Given the description of an element on the screen output the (x, y) to click on. 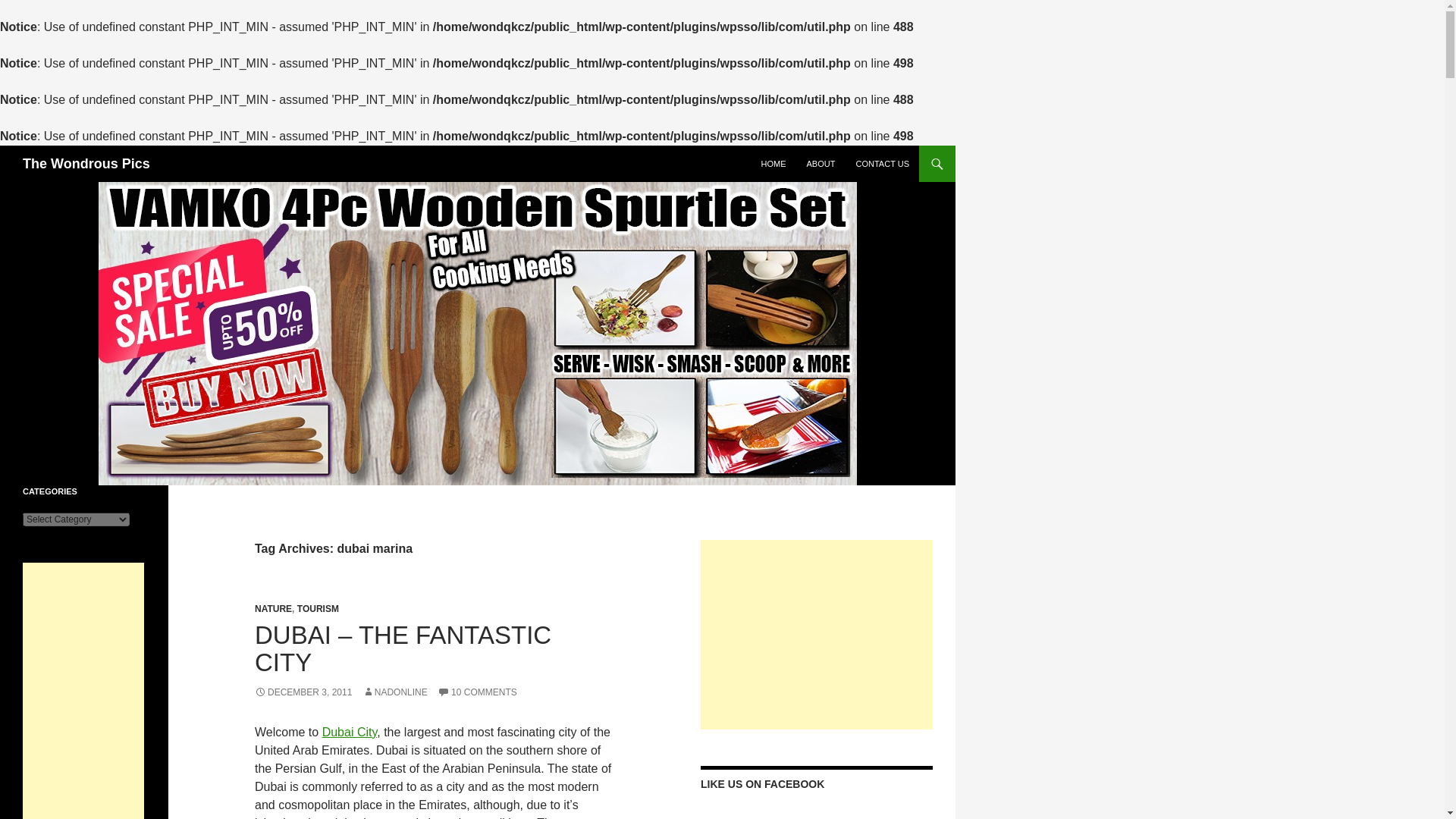
DECEMBER 3, 2011 (303, 692)
HOME (772, 163)
NATURE (273, 608)
Dubai City (349, 731)
The Wondrous Pics (86, 163)
TOURISM (318, 608)
CONTACT US (881, 163)
10 COMMENTS (477, 692)
NADONLINE (395, 692)
